Given the description of an element on the screen output the (x, y) to click on. 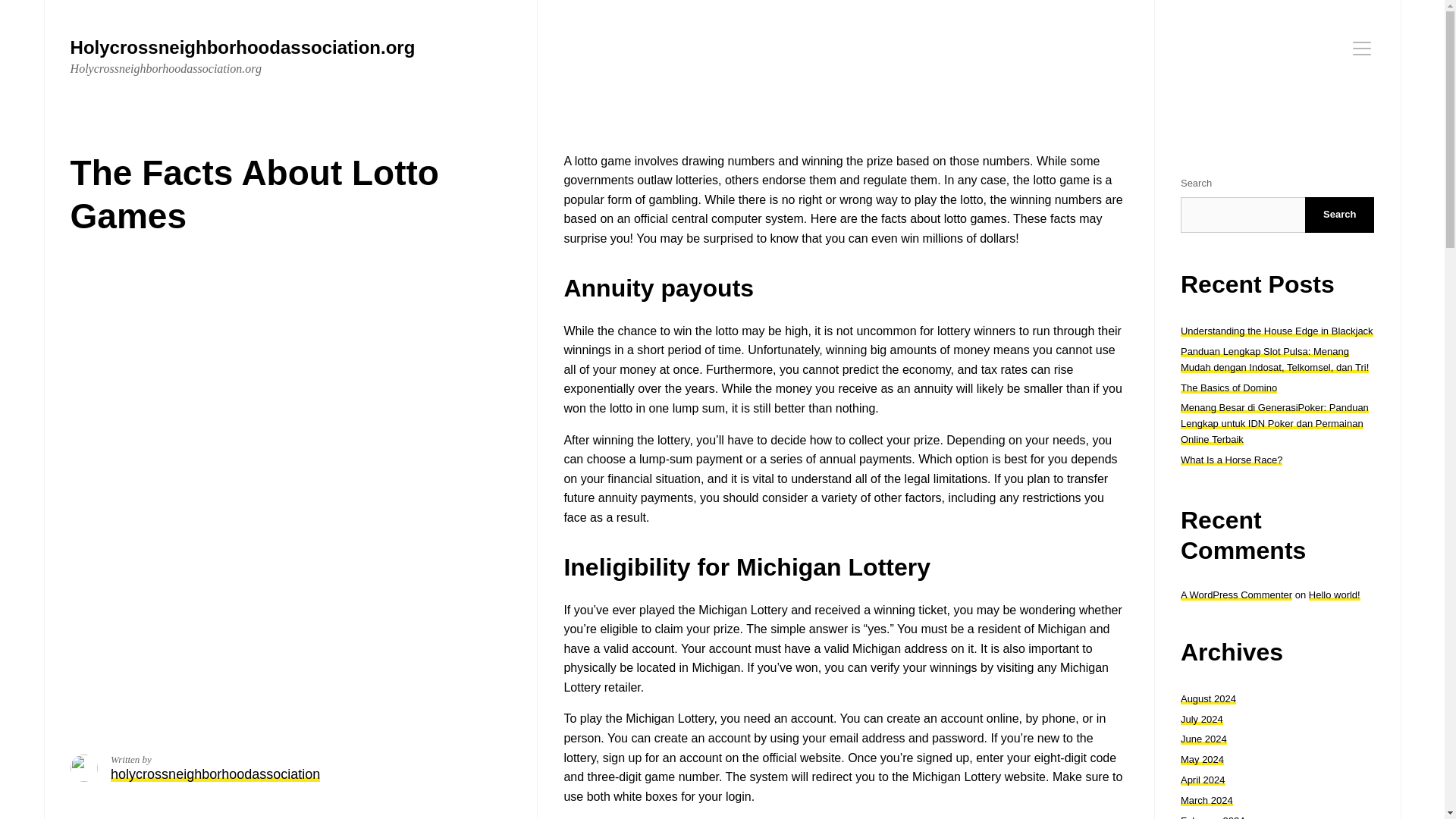
August 2024 (1208, 698)
June 2024 (1203, 738)
What Is a Horse Race? (1231, 460)
July 2024 (1201, 718)
Search (1339, 214)
The Basics of Domino (1228, 387)
April 2024 (1202, 779)
March 2024 (1206, 799)
A WordPress Commenter (1236, 594)
